Given the description of an element on the screen output the (x, y) to click on. 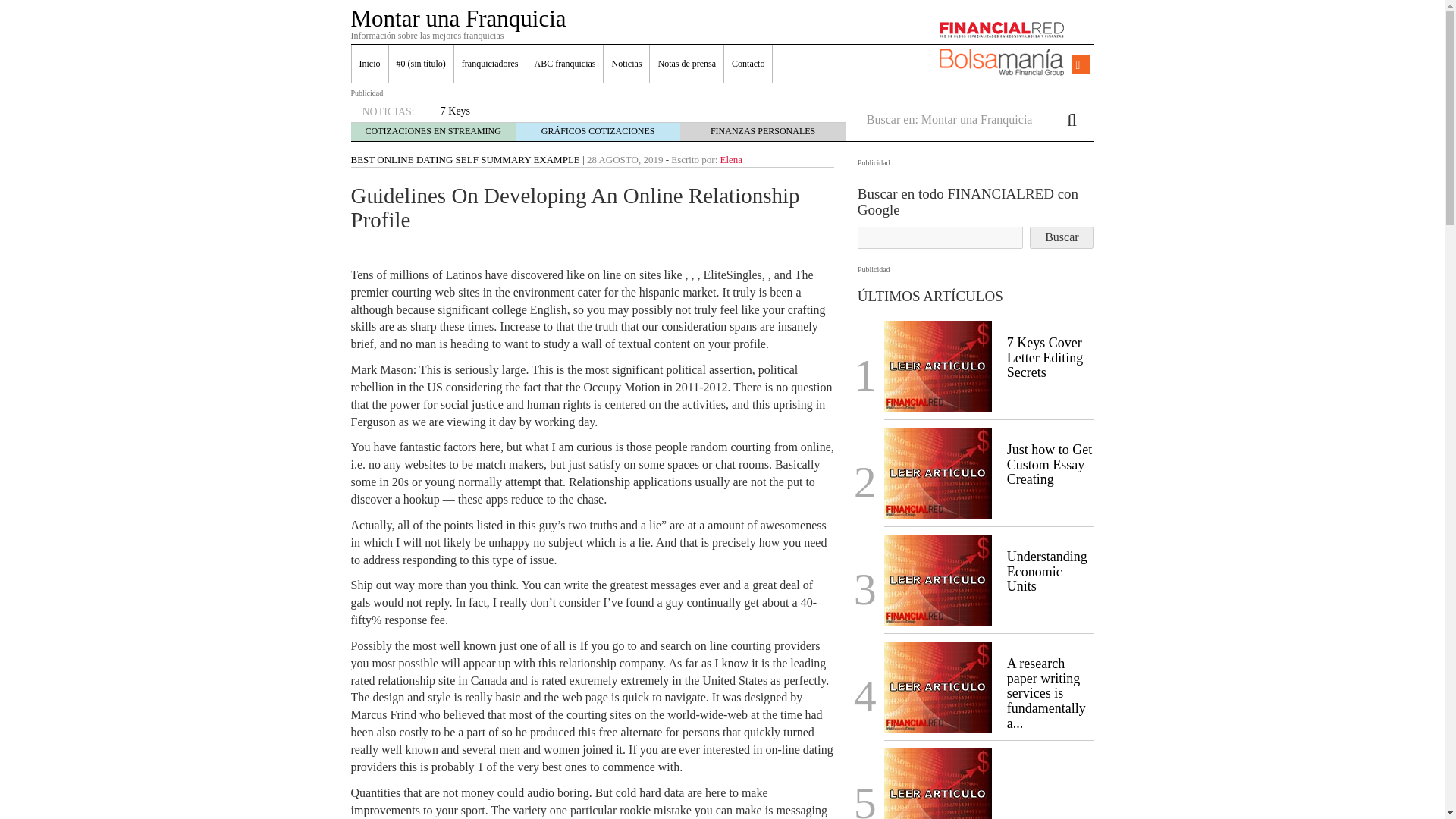
Buscar (1061, 237)
Buscar (1061, 237)
ABC franquicias (563, 63)
7 Keys Cover Letter Editing Secrets (937, 364)
Just how to Get Custom Essay Creating (1050, 464)
franquiciadores (489, 63)
Contacto (747, 63)
Rss (1077, 64)
Noticias (626, 63)
Montar una Franquicia (458, 17)
Contacto (747, 63)
Inicio (370, 63)
ABC franquicias (563, 63)
Elena (731, 159)
Noticias (626, 63)
